Given the description of an element on the screen output the (x, y) to click on. 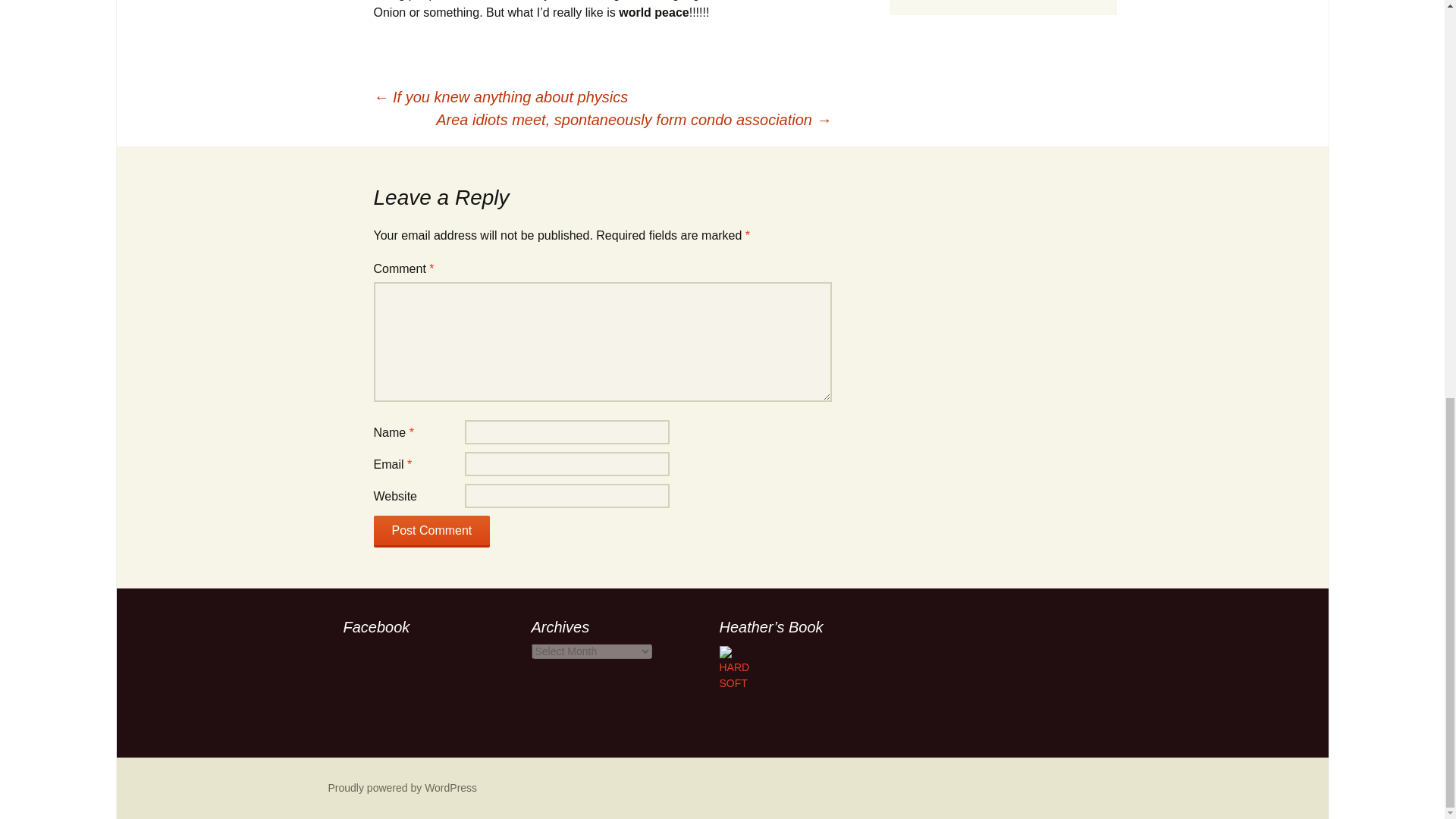
Post Comment (430, 531)
Semantic Personal Publishing Platform (402, 787)
Post Comment (430, 531)
